Given the description of an element on the screen output the (x, y) to click on. 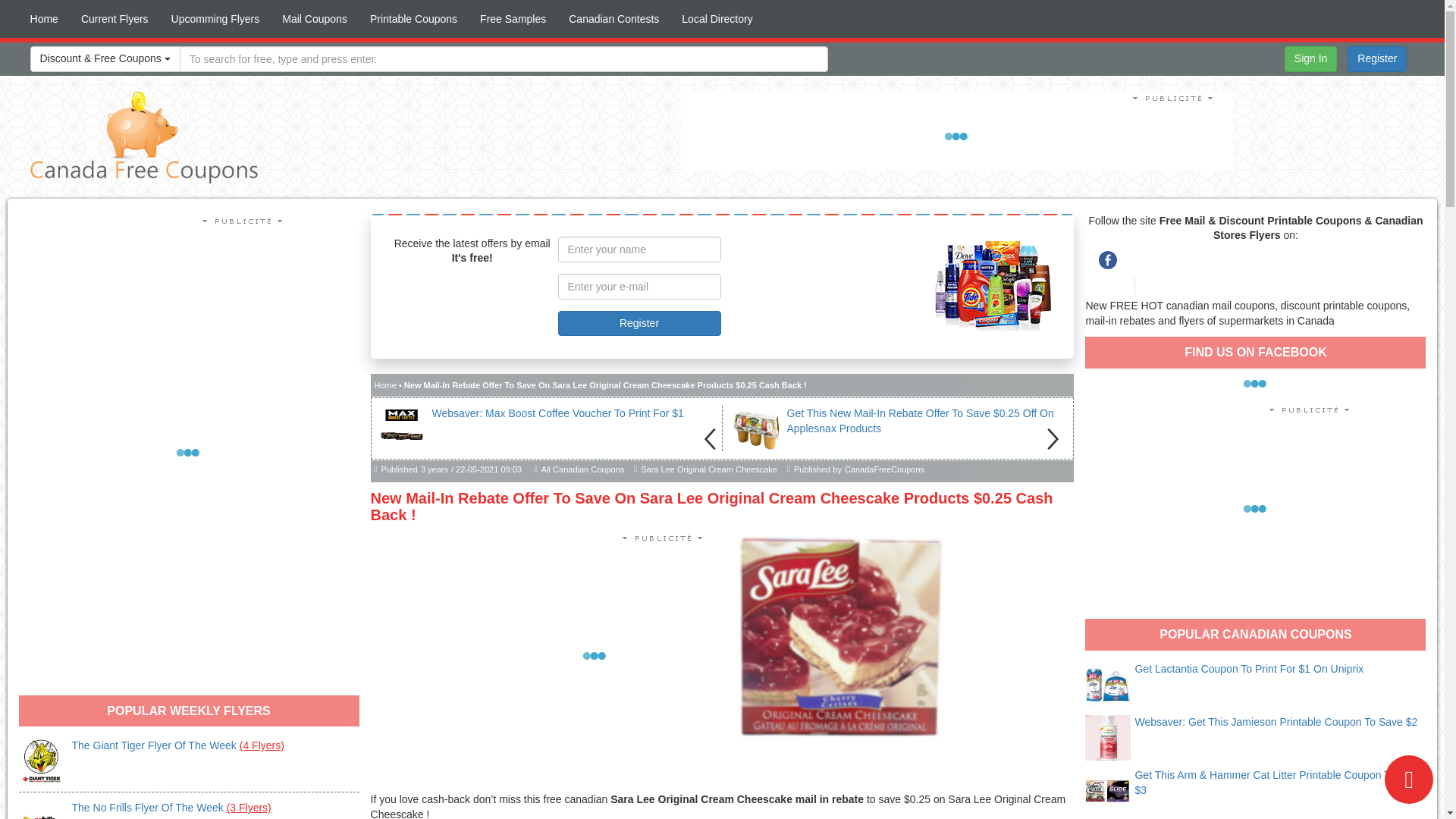
Advertisement (957, 136)
Current Flyers (114, 18)
All Canadian Coupons (582, 469)
Free Samples (512, 18)
Register (1377, 58)
Mail Coupons (314, 18)
Home (43, 18)
Upcomming Flyers (215, 18)
Printable Coupons (413, 18)
Canadian Contests (613, 18)
Register (638, 323)
Local Directory (715, 18)
Sign In (1311, 58)
